Given the description of an element on the screen output the (x, y) to click on. 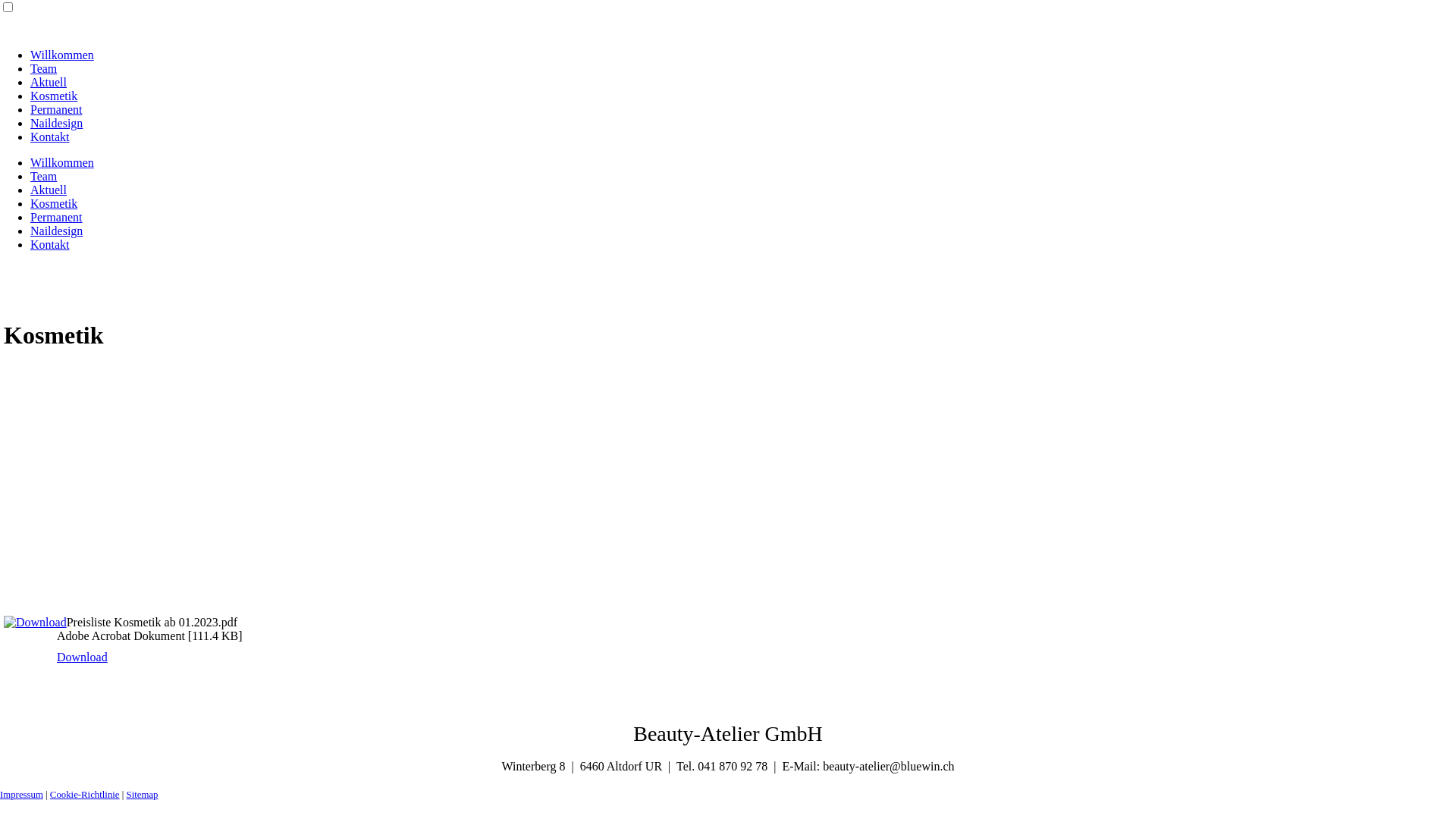
Permanent Element type: text (55, 216)
Aktuell Element type: text (48, 189)
Team Element type: text (43, 68)
Naildesign Element type: text (56, 230)
Team Element type: text (43, 175)
Kontakt Element type: text (49, 136)
Cookie-Richtlinie Element type: text (84, 794)
Sitemap Element type: text (142, 794)
Naildesign Element type: text (56, 122)
Download Element type: text (81, 657)
Impressum Element type: text (21, 794)
Willkommen Element type: text (62, 162)
Willkommen Element type: text (62, 54)
Kontakt Element type: text (49, 244)
Aktuell Element type: text (48, 81)
Kosmetik Element type: text (53, 203)
Permanent Element type: text (55, 109)
Kosmetik Element type: text (53, 95)
